Given the description of an element on the screen output the (x, y) to click on. 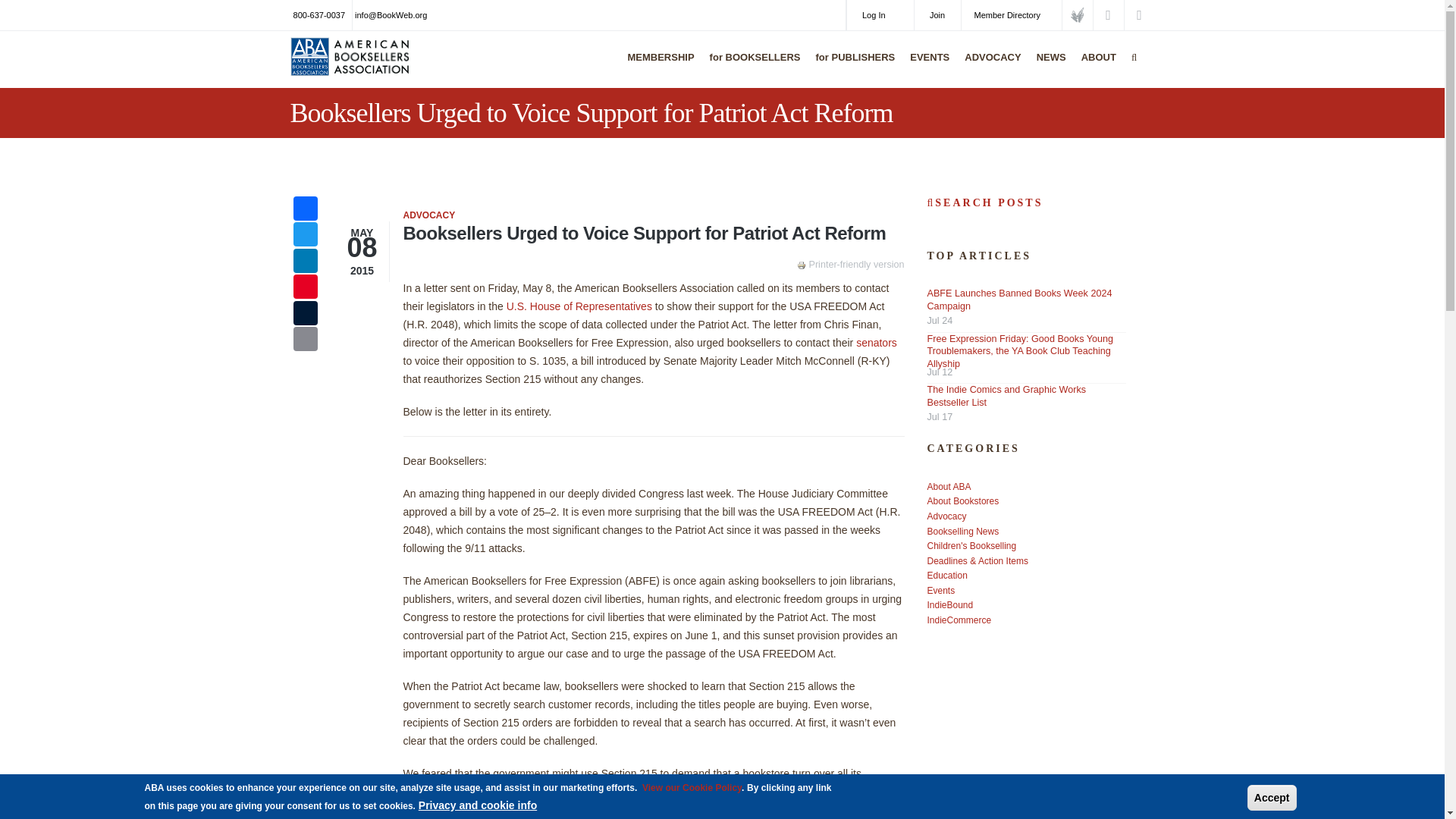
for PUBLISHERS (852, 66)
NEWS (1047, 66)
Accept (1272, 797)
Member Directory (1010, 15)
ADVOCACY (989, 66)
Printer-friendly version (802, 265)
ABOUT (1094, 66)
for BOOKSELLERS (751, 66)
MEMBERSHIP (656, 66)
Display a printer-friendly version of this page. (850, 264)
for BOOKSELLERS (751, 66)
EVENTS (925, 66)
Join (937, 15)
Log In (880, 15)
